Given the description of an element on the screen output the (x, y) to click on. 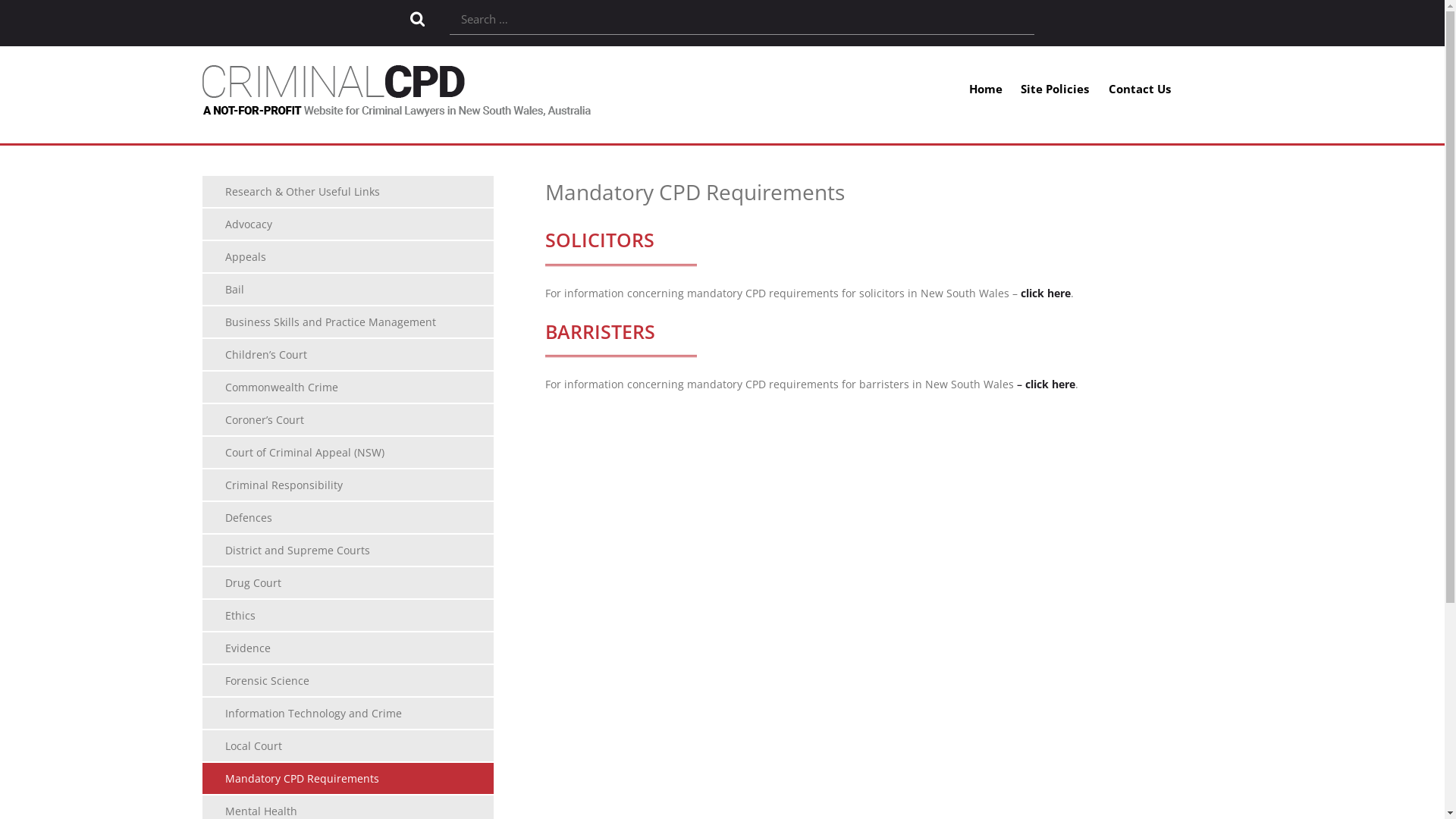
click here Element type: text (1045, 292)
Court of Criminal Appeal (NSW) Element type: text (347, 451)
Defences Element type: text (347, 517)
Criminal CPD Element type: hover (396, 108)
Business Skills and Practice Management Element type: text (347, 321)
Contact Us Element type: text (1136, 88)
Mandatory CPD Requirements Element type: text (347, 777)
Search Element type: text (417, 18)
Site Policies Element type: text (1054, 90)
Evidence Element type: text (347, 647)
Commonwealth Crime Element type: text (347, 386)
Ethics Element type: text (347, 614)
Research & Other Useful Links Element type: text (347, 191)
Criminal Responsibility Element type: text (347, 484)
Information Technology and Crime Element type: text (347, 712)
Bail Element type: text (347, 288)
Forensic Science Element type: text (347, 680)
District and Supreme Courts Element type: text (347, 549)
Drug Court Element type: text (347, 582)
Local Court Element type: text (347, 745)
Home Element type: text (985, 90)
Appeals Element type: text (347, 256)
Advocacy Element type: text (347, 223)
